Given the description of an element on the screen output the (x, y) to click on. 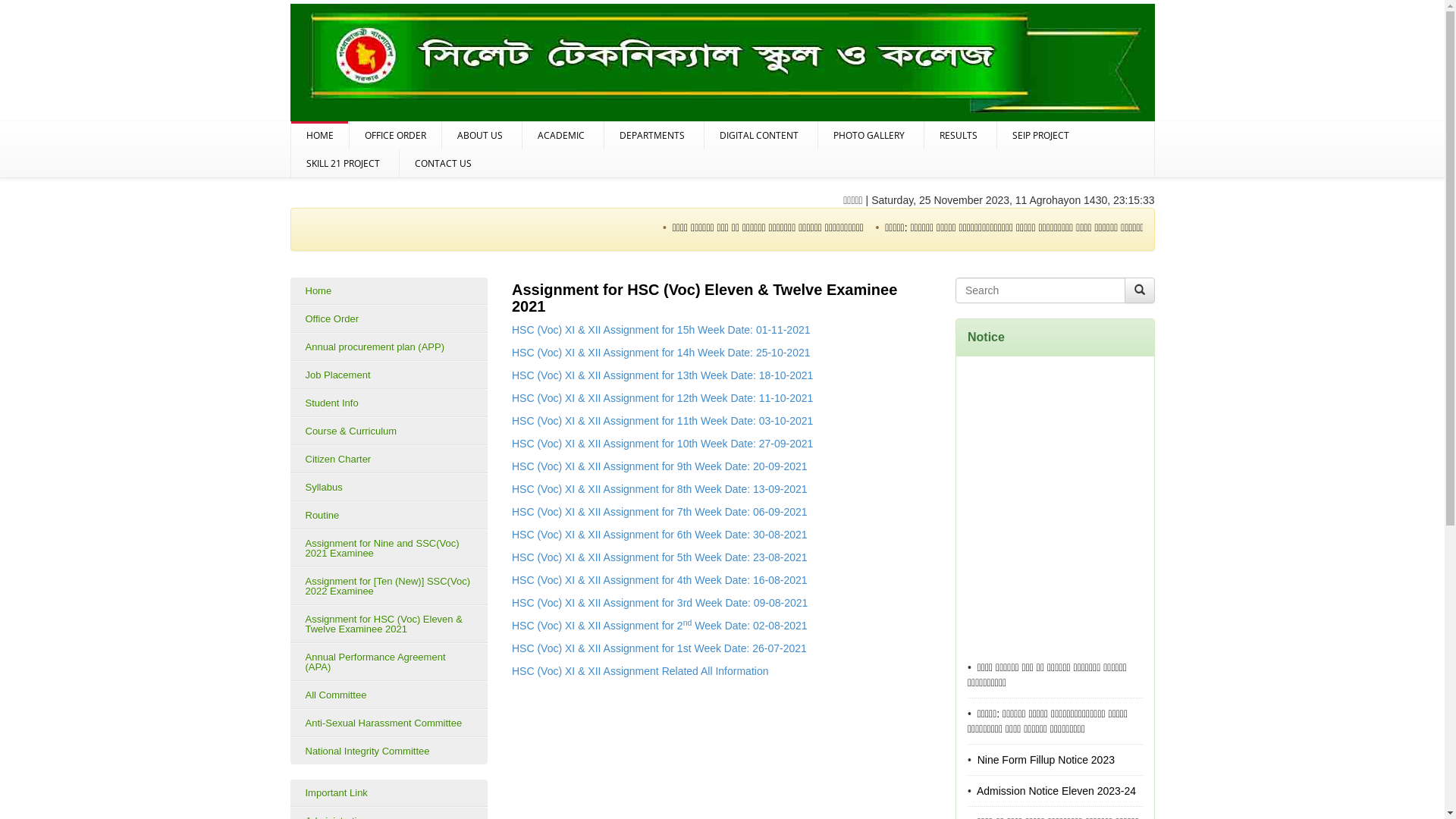
Annual Performance Agreement (APA) Element type: text (387, 661)
HSC (Voc) XI & XII Assignment for 12th Week Date: 11-10-2021 Element type: text (661, 398)
CONTACT US Element type: text (442, 163)
SKILL 21 PROJECT Element type: text (344, 163)
HSC (Voc) XI & XII Assignment for 3rd Week Date: 09-08-2021 Element type: text (659, 602)
HSC (Voc) XI & XII Assignment for 10th Week Date: 27-09-2021 Element type: text (661, 443)
HSC (Voc) XI & XII Assignment for 5th Week Date: 23-08-2021 Element type: text (659, 557)
Citizen Charter Element type: text (387, 459)
Home Element type: text (387, 290)
Office Order Element type: text (387, 318)
Assignment for HSC (Voc) Eleven & Twelve Examinee 2021 Element type: text (387, 624)
Syllabus Element type: text (387, 487)
DEPARTMENTS Element type: text (652, 135)
HSC (Voc) XI & XII Assignment for 11th Week Date: 03-10-2021 Element type: text (661, 420)
Anti-Sexual Harassment Committee Element type: text (387, 723)
HSC (Voc) XI & XII Assignment for 9th Week Date: 20-09-2021 Element type: text (659, 466)
HSC (Voc) XI & XII Assignment for 14h Week Date: 25-10-2021 Element type: text (660, 352)
National Integrity Committee Element type: text (387, 750)
RESULTS Element type: text (959, 135)
ABOUT US Element type: text (480, 135)
PHOTO GALLERY Element type: text (869, 135)
Assignment for Nine and SSC(Voc) 2021 Examinee Element type: text (387, 548)
DIGITAL CONTENT Element type: text (759, 135)
HSC (Voc) XI & XII Assignment for 8th Week Date: 13-09-2021 Element type: text (659, 489)
Nine Form Fillup Notice 2023 Element type: text (1044, 803)
Student Info Element type: text (387, 403)
HSC (Voc) XI & XII Assignment for 15h Week Date: 01-11-2021 Element type: text (660, 329)
Assignment for HSC (Voc) Eleven & Twelve Examinee 2021 Element type: text (704, 297)
Nine Form Fillup Notice 2023 Element type: text (1371, 227)
ACADEMIC Element type: text (561, 135)
HOME Element type: text (319, 135)
Course & Curriculum Element type: text (387, 431)
Assignment for [Ten (New)] SSC(Voc) 2022 Examinee Element type: text (387, 586)
OFFICE ORDER Element type: text (394, 135)
Important Link Element type: text (387, 792)
Annual procurement plan (APP) Element type: text (387, 346)
HSC (Voc) XI & XII Assignment Related All Information Element type: text (639, 671)
Notice Element type: text (985, 336)
HSC (Voc) XI & XII Assignment for 6th Week Date: 30-08-2021 Element type: text (659, 534)
HSC (Voc) XI & XII Assignment for 4th Week Date: 16-08-2021 Element type: text (659, 580)
SEIP PROJECT Element type: text (1041, 135)
HSC (Voc) XI & XII Assignment for 1st Week Date: 26-07-2021 Element type: text (658, 648)
All Committee Element type: text (387, 694)
HSC (Voc) XI & XII Assignment for 7th Week Date: 06-09-2021 Element type: text (659, 511)
Routine Element type: text (387, 515)
Job Placement Element type: text (387, 374)
HSC (Voc) XI & XII Assignment for 2nd Week Date: 02-08-2021 Element type: text (659, 625)
Sylhet Technical School & College Element type: hover (721, 63)
HSC (Voc) XI & XII Assignment for 13th Week Date: 18-10-2021 Element type: text (661, 375)
